Given the description of an element on the screen output the (x, y) to click on. 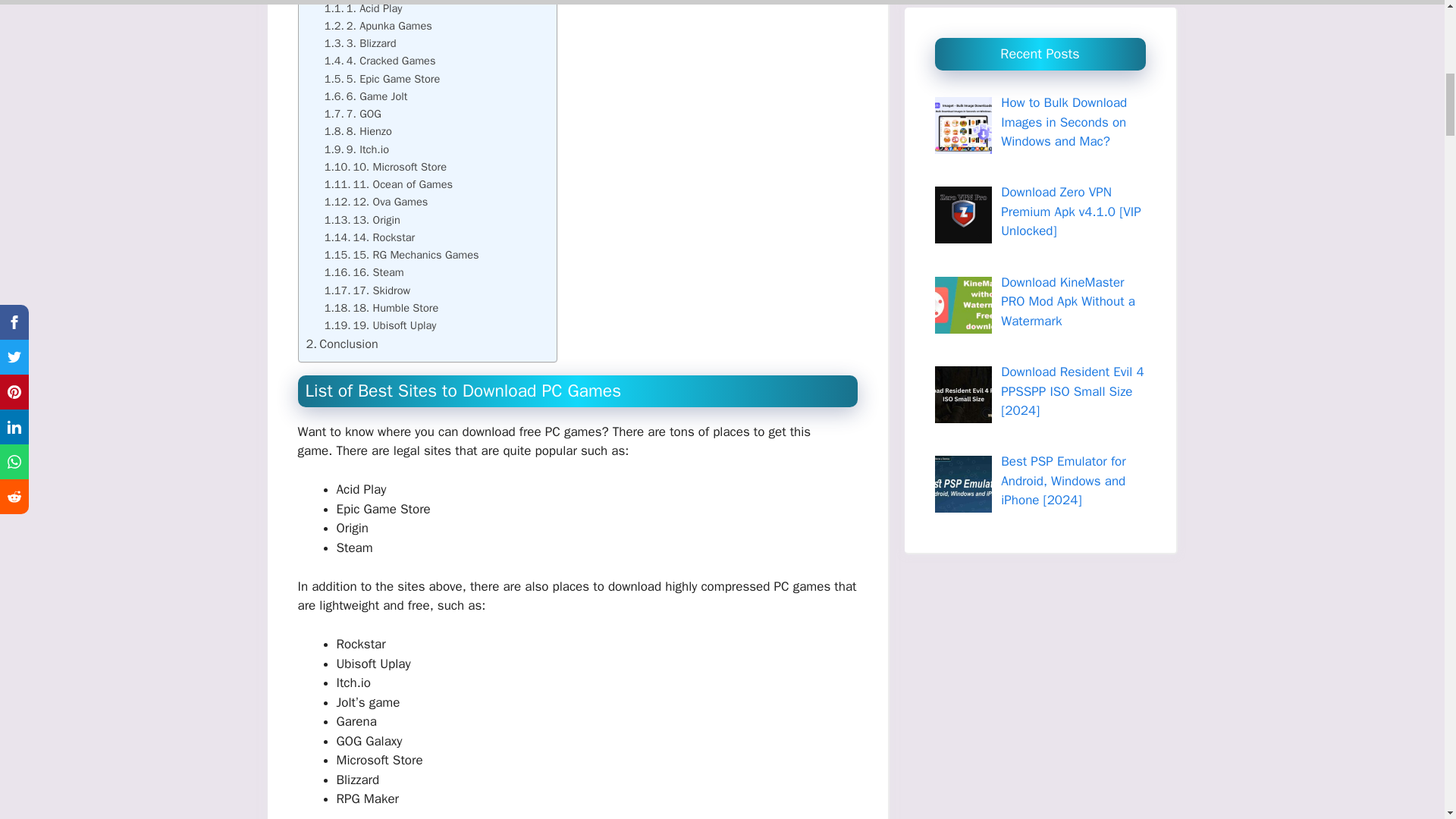
5. Epic Game Store (382, 78)
16. Steam (364, 272)
14. Rockstar (369, 237)
19. Ubisoft Uplay (380, 325)
8. Hienzo (357, 131)
7. GOG (352, 113)
3. Blizzard (360, 43)
8. Hienzo (357, 131)
1. Acid Play (363, 8)
1. Acid Play (363, 8)
